Given the description of an element on the screen output the (x, y) to click on. 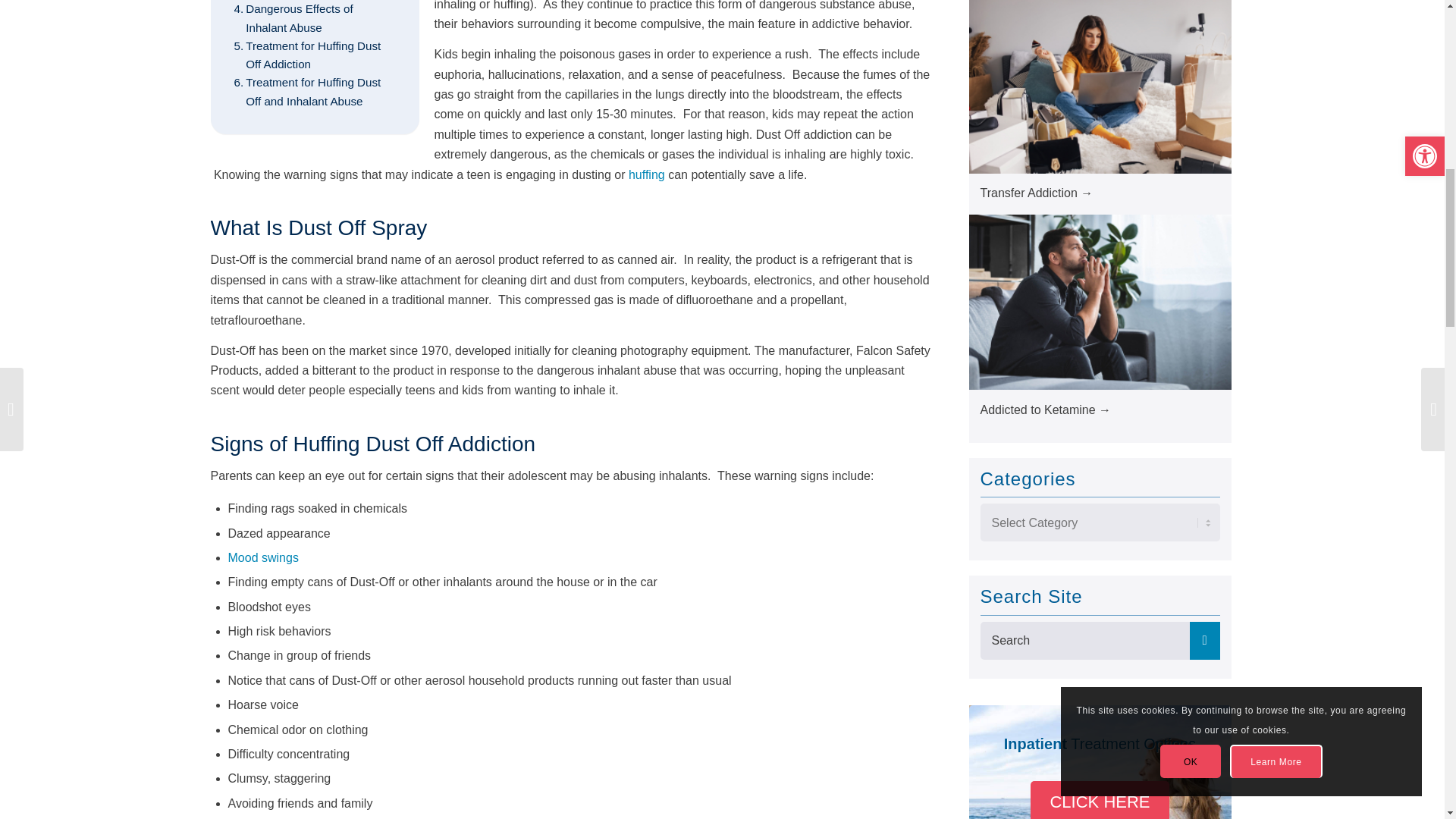
Dangerous Effects of Inhalant Abuse (313, 18)
Treatment for Huffing Dust Off Addiction (313, 55)
Treatment for Huffing Dust Off and Inhalant Abuse (313, 91)
